Given the description of an element on the screen output the (x, y) to click on. 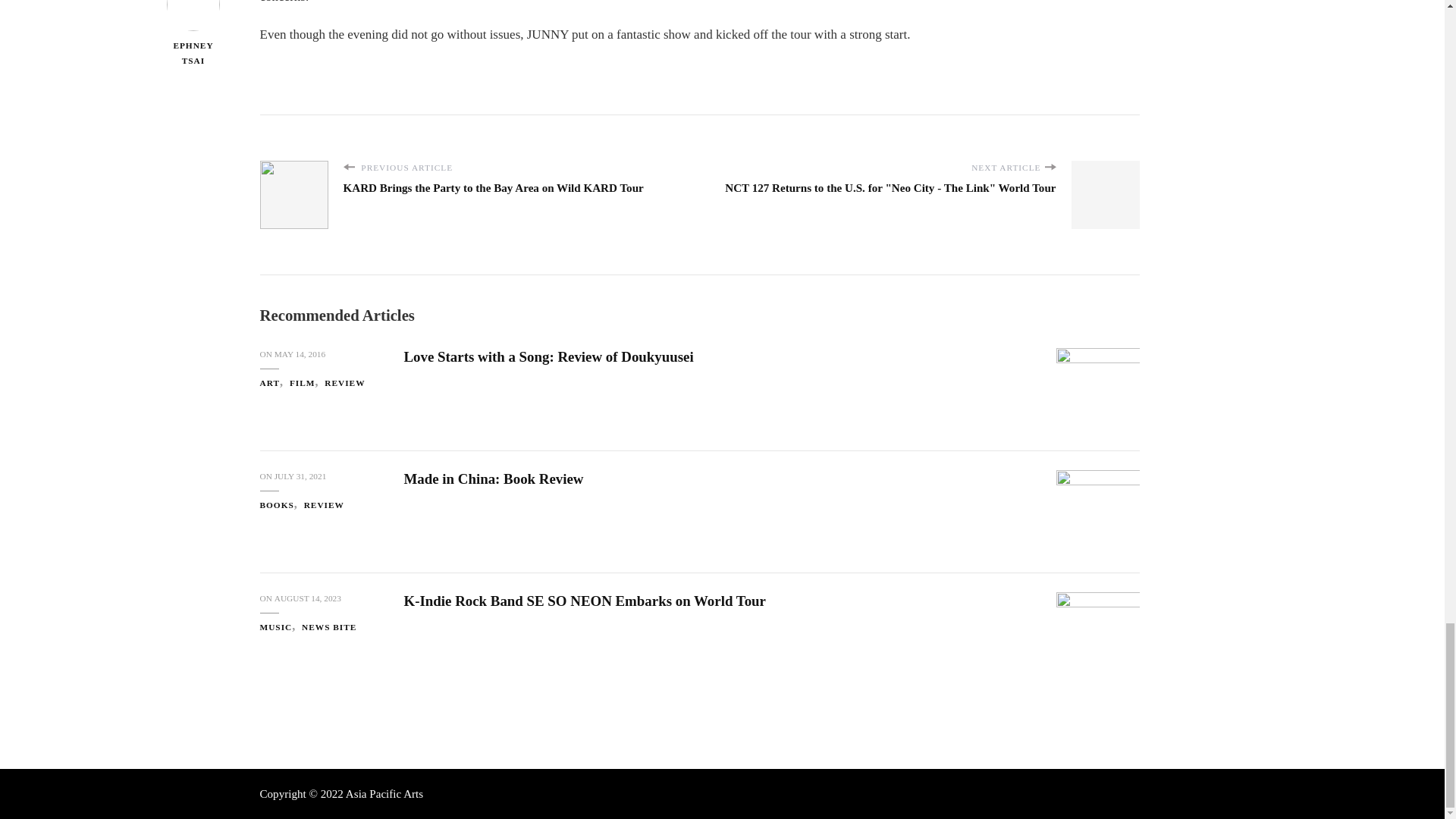
REVIEW (323, 504)
MUSIC (279, 626)
MAY 14, 2016 (299, 354)
ART (272, 382)
Love Starts with a Song: Review of Doukyuusei (548, 356)
REVIEW (344, 382)
JULY 31, 2021 (300, 476)
AUGUST 14, 2023 (307, 598)
FILM (306, 382)
BOOKS (280, 504)
